Given the description of an element on the screen output the (x, y) to click on. 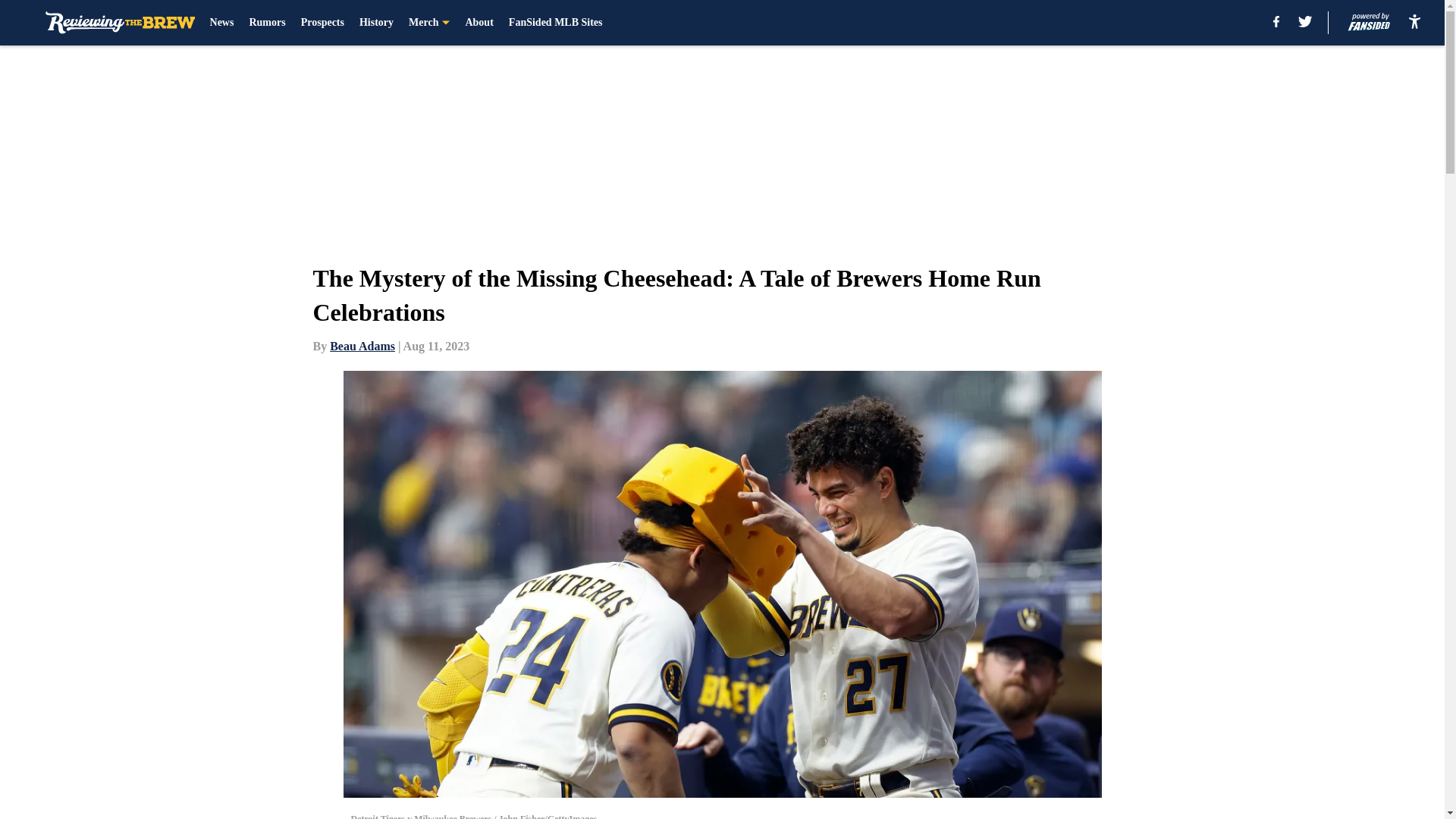
Beau Adams (362, 345)
History (376, 22)
News (221, 22)
Rumors (266, 22)
About (478, 22)
FanSided MLB Sites (555, 22)
Prospects (322, 22)
